Given the description of an element on the screen output the (x, y) to click on. 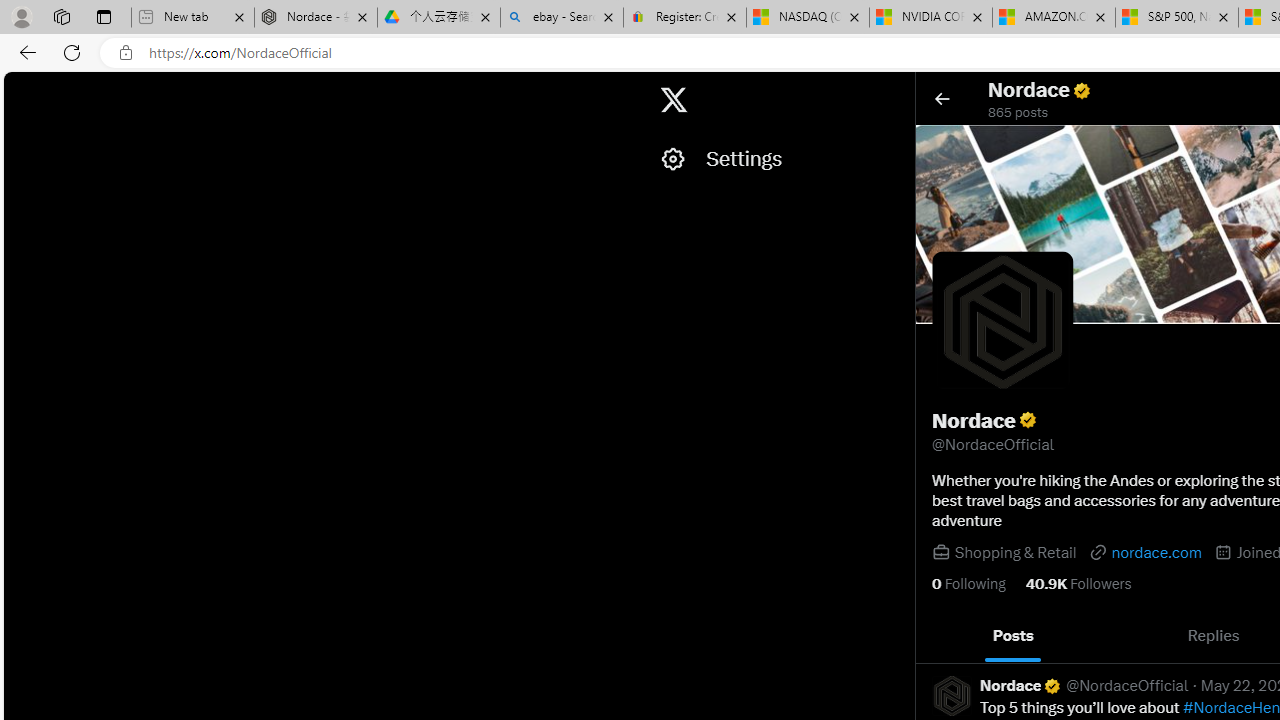
S&P 500, Nasdaq end lower, weighed by Nvidia dip | Watch (1176, 17)
Posts (1013, 636)
Square profile picture (952, 695)
Settings (777, 159)
Previous (938, 636)
Register: Create a personal eBay account (684, 17)
New tab - Sleeping (192, 17)
Skip to trending (21, 90)
Provides details about verified accounts. (1027, 420)
Square profile picture and Opens profile photo (1003, 322)
40.9K Followers (1078, 583)
